Given the description of an element on the screen output the (x, y) to click on. 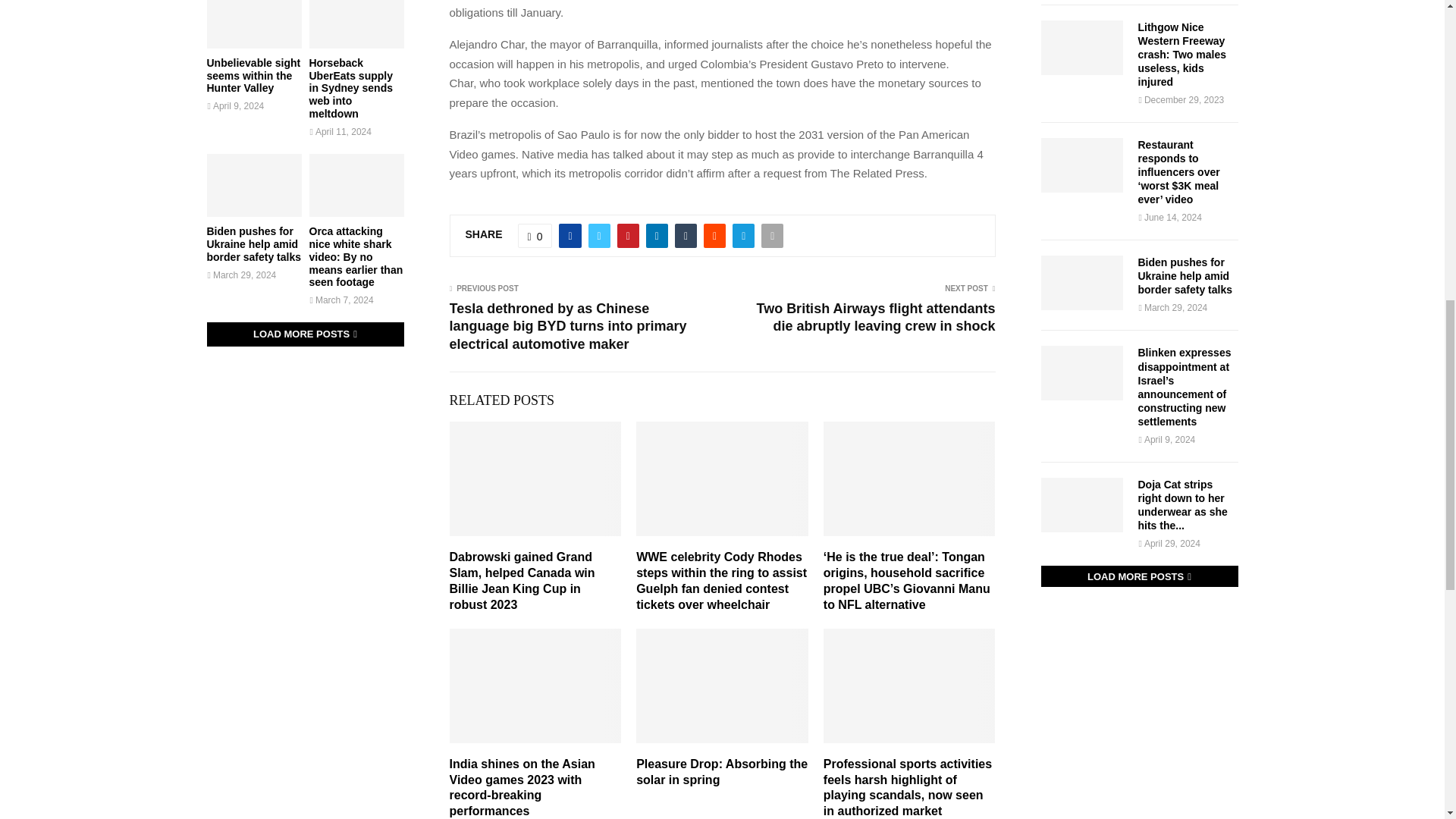
Like (535, 234)
